Given the description of an element on the screen output the (x, y) to click on. 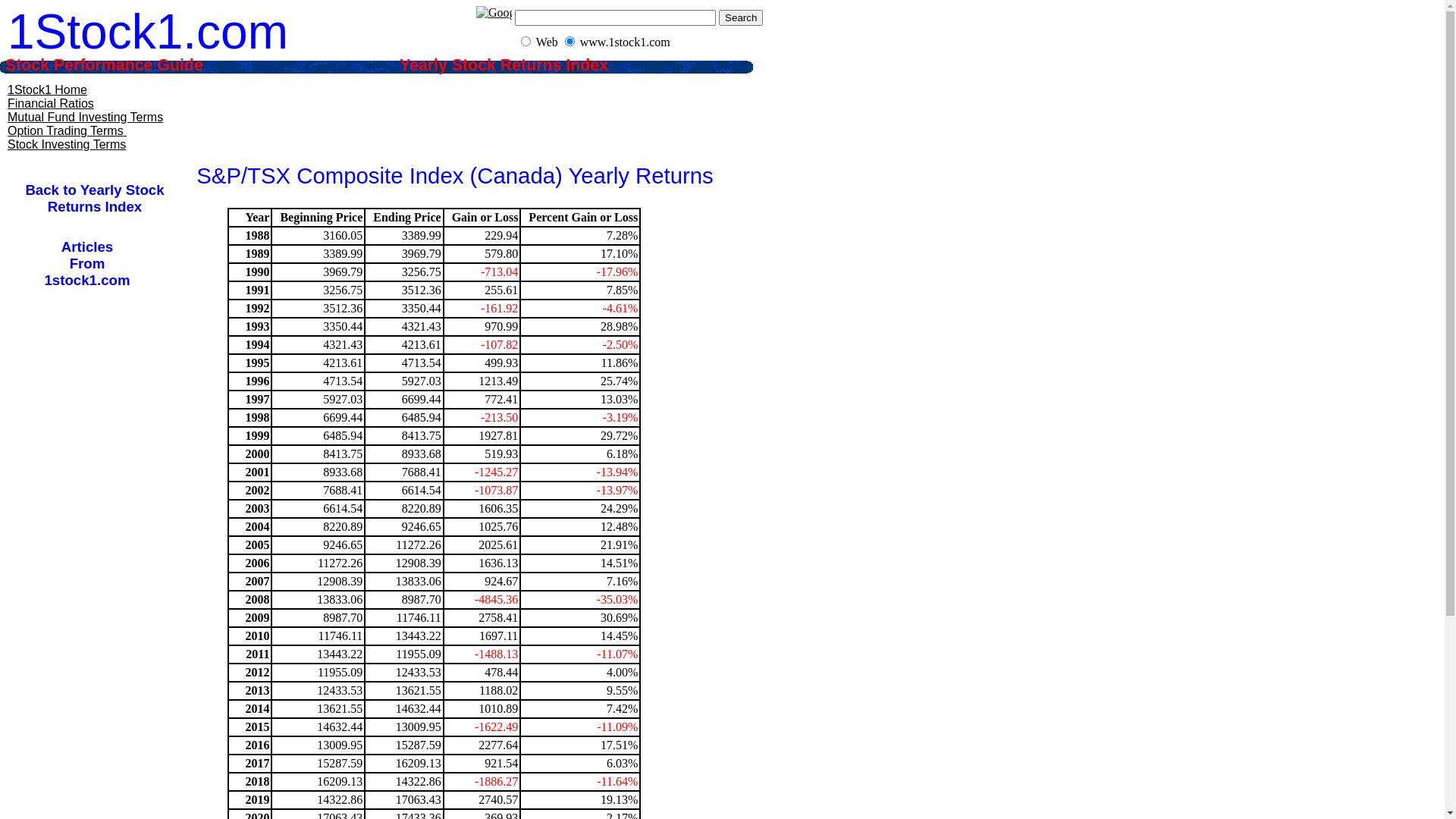
Option Trading Terms Element type: text (65, 130)
Advertisement Element type: hover (94, 549)
Articles
From
1stock1.com Element type: text (86, 263)
  Element type: text (124, 130)
Advertisement Element type: hover (454, 109)
Stock Investing Terms Element type: text (66, 144)
1Stock1 Home Element type: text (47, 89)
Financial Ratios Element type: text (50, 103)
Mutual Fund Investing Terms Element type: text (85, 116)
Stock Performance Guide          Element type: text (124, 65)
Yearly Stock Returns Index      Element type: text (514, 65)
Back to Yearly Stock Returns Index Element type: text (94, 198)
Search Element type: text (740, 17)
